Given the description of an element on the screen output the (x, y) to click on. 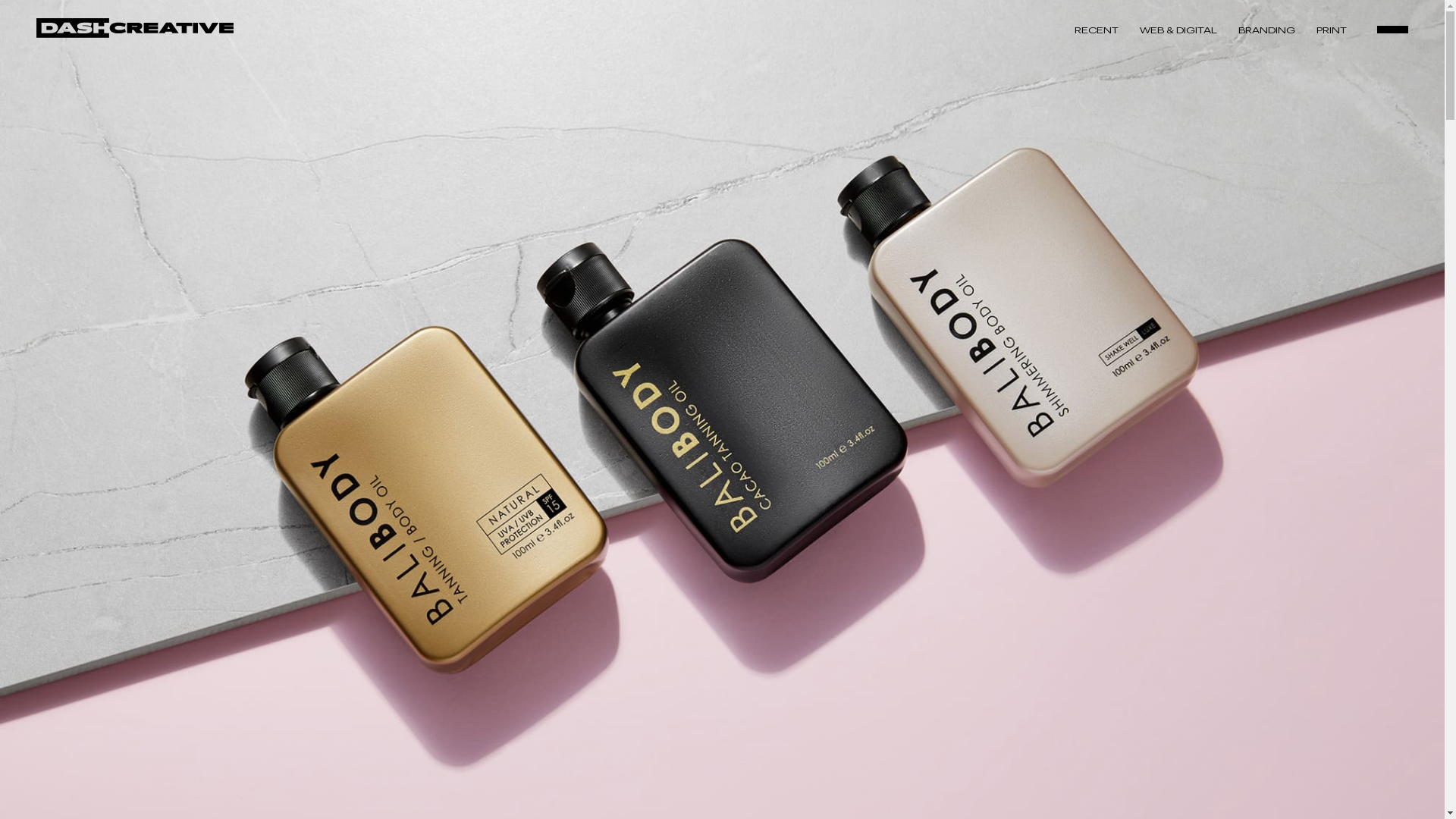
PRINT Element type: text (1331, 29)
BRANDING Element type: text (1266, 29)
Subscribe Element type: text (1178, 677)
WEB & DIGITAL Element type: text (1178, 29)
RECENT Element type: text (1096, 29)
Dashcreative Element type: text (134, 29)
